Given the description of an element on the screen output the (x, y) to click on. 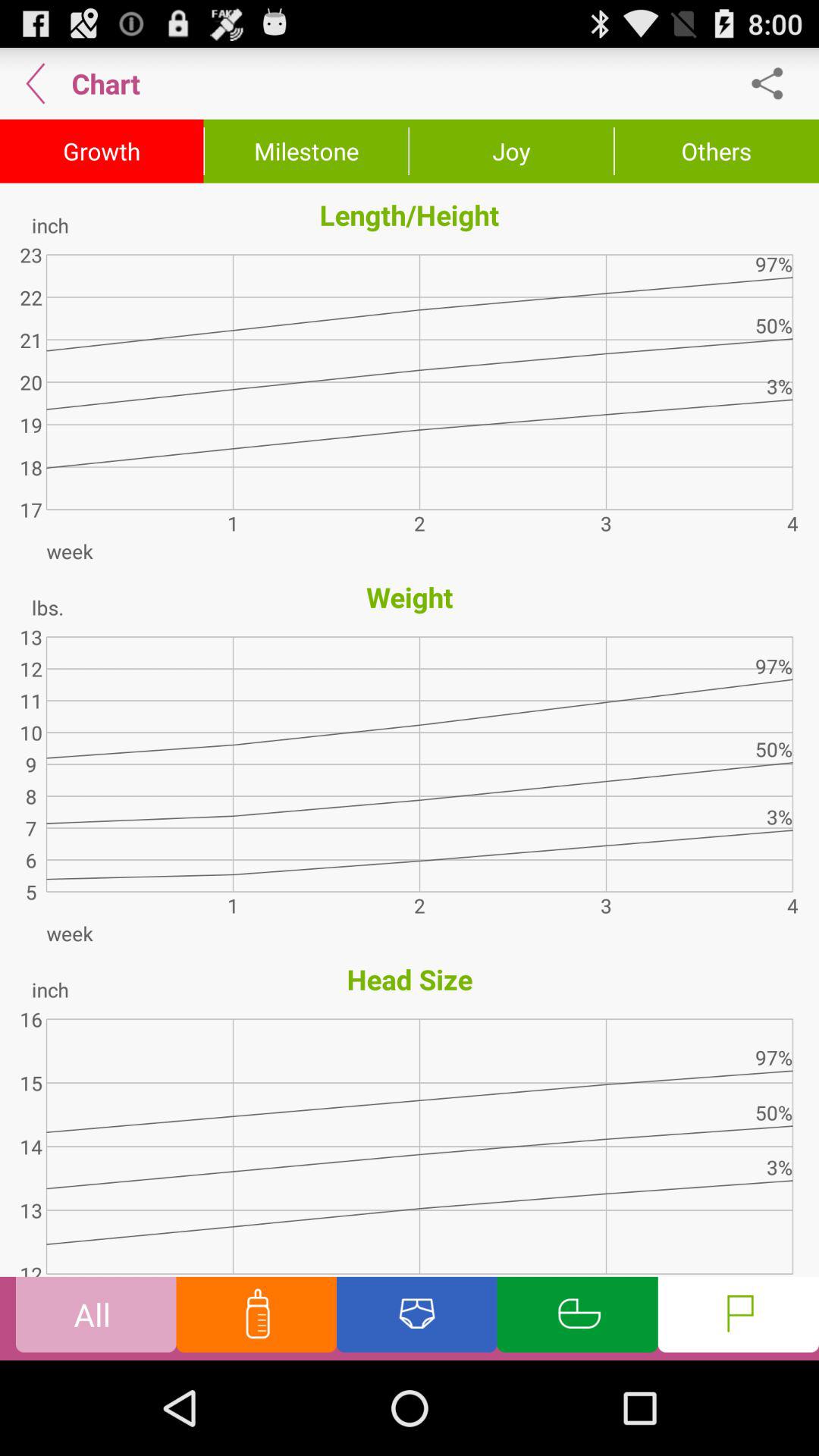
scroll until the milestone item (306, 151)
